Given the description of an element on the screen output the (x, y) to click on. 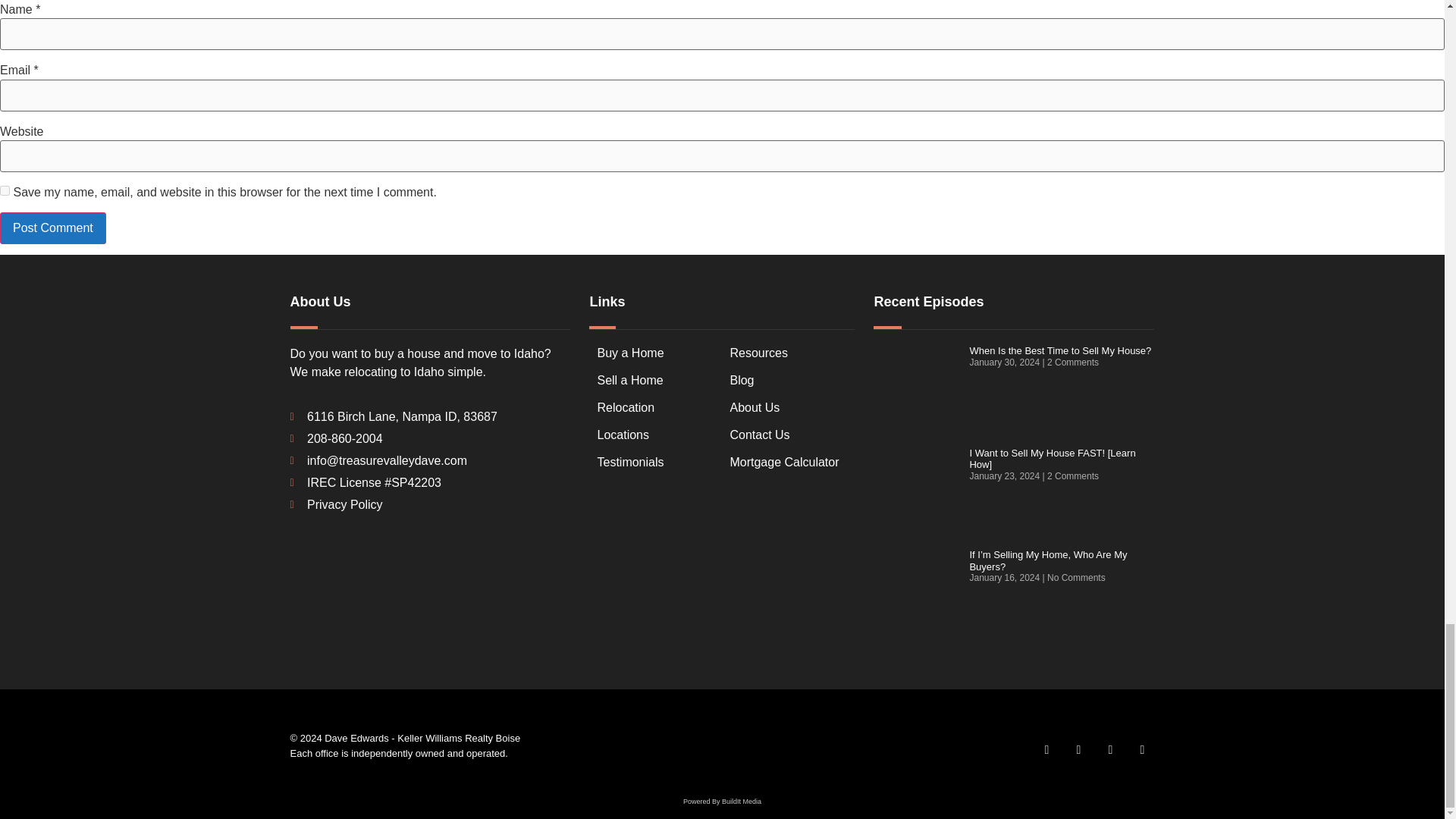
yes (5, 190)
Post Comment (53, 228)
